Given the description of an element on the screen output the (x, y) to click on. 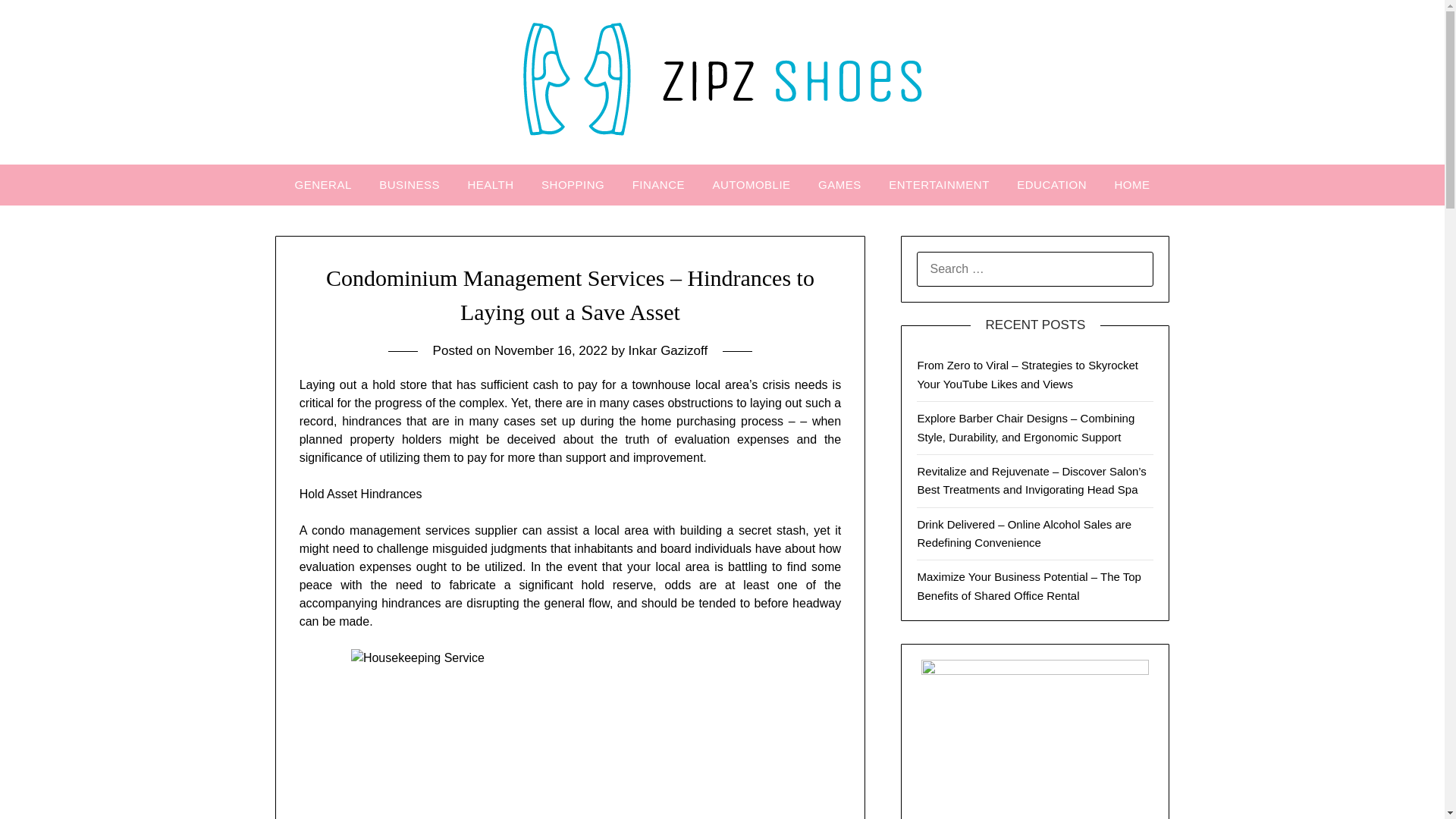
HOME (1131, 184)
Search (38, 22)
GENERAL (323, 184)
Inkar Gazizoff (667, 350)
GAMES (839, 184)
AUTOMOBLIE (751, 184)
November 16, 2022 (551, 350)
EDUCATION (1051, 184)
HEALTH (490, 184)
SHOPPING (572, 184)
